Given the description of an element on the screen output the (x, y) to click on. 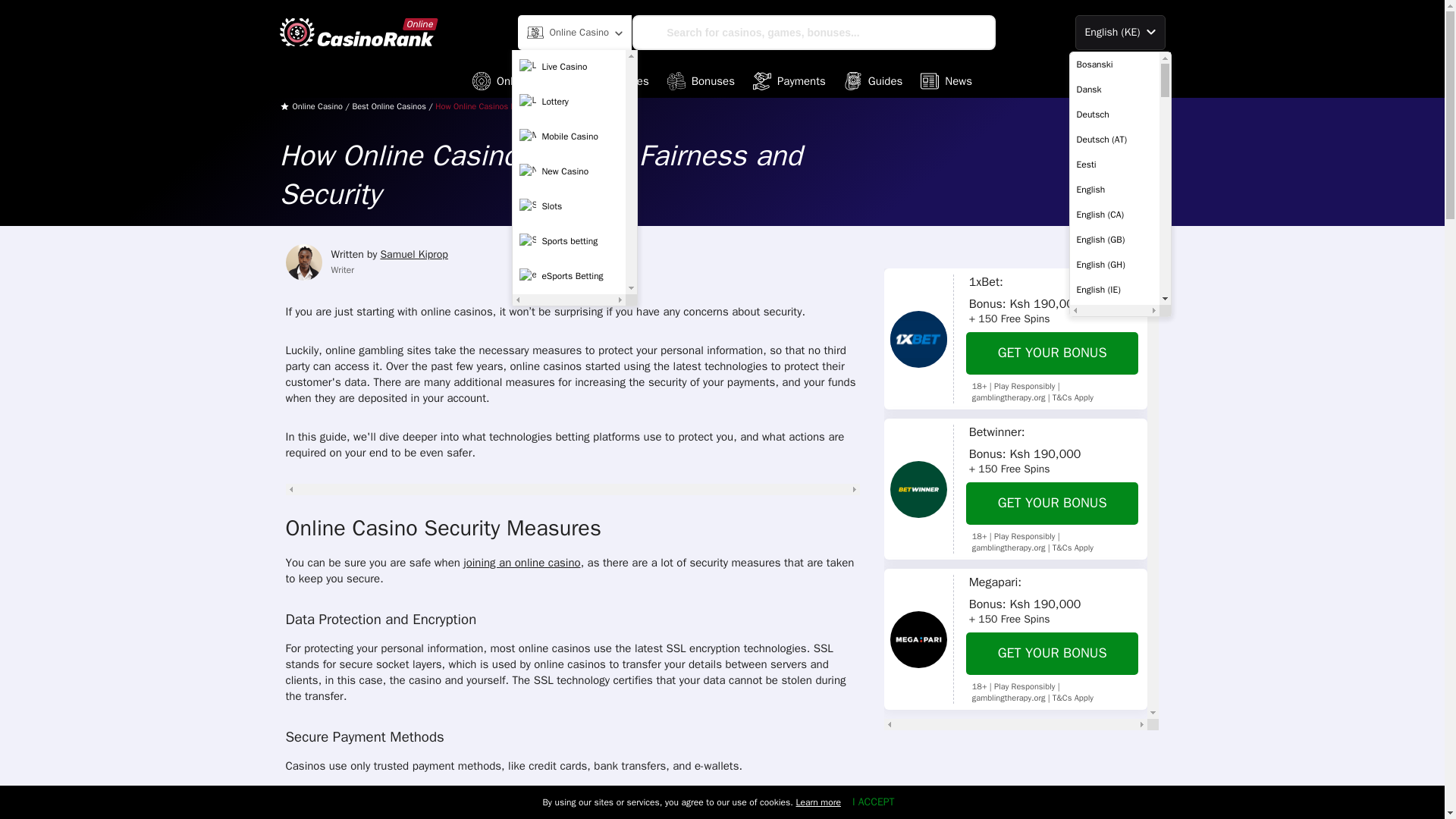
Bosanski (1113, 63)
Deutsch (1113, 113)
Hrvatski (1113, 810)
eSports Betting (569, 276)
Mobile Casino (569, 136)
Sports betting (569, 241)
Slots (569, 206)
Lottery (569, 102)
Eesti (1113, 163)
Live Casino (569, 67)
